Given the description of an element on the screen output the (x, y) to click on. 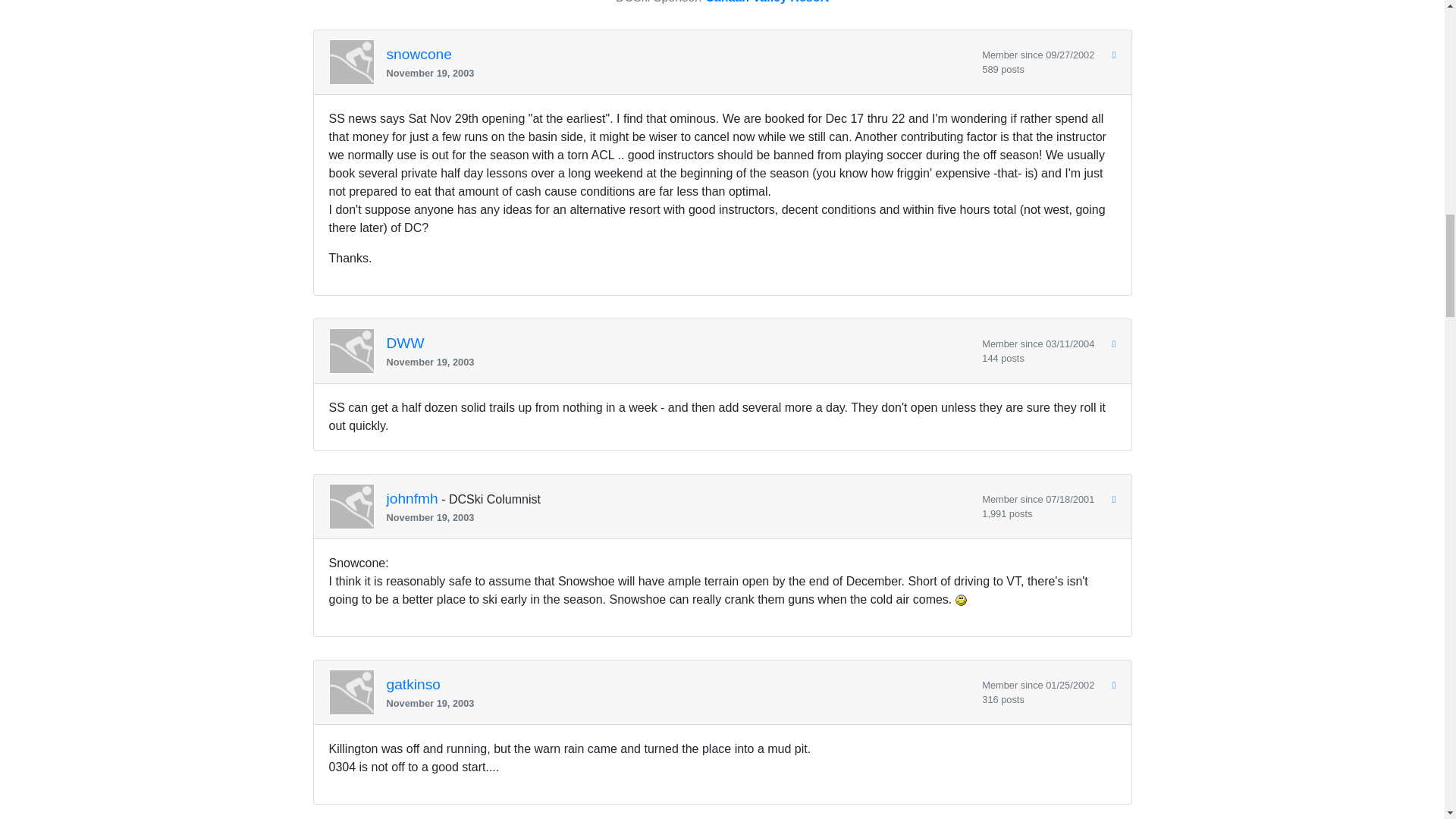
Canaan Valley Resort (766, 2)
November 19, 2003 at 08:12 am (679, 361)
November 19, 2003 at 08:27 am (679, 517)
November 19, 2003 at 10:15 am (679, 703)
johnfmh (412, 499)
November 19, 2003 at 07:50 am (679, 73)
snowcone (419, 54)
DWW (406, 343)
